Given the description of an element on the screen output the (x, y) to click on. 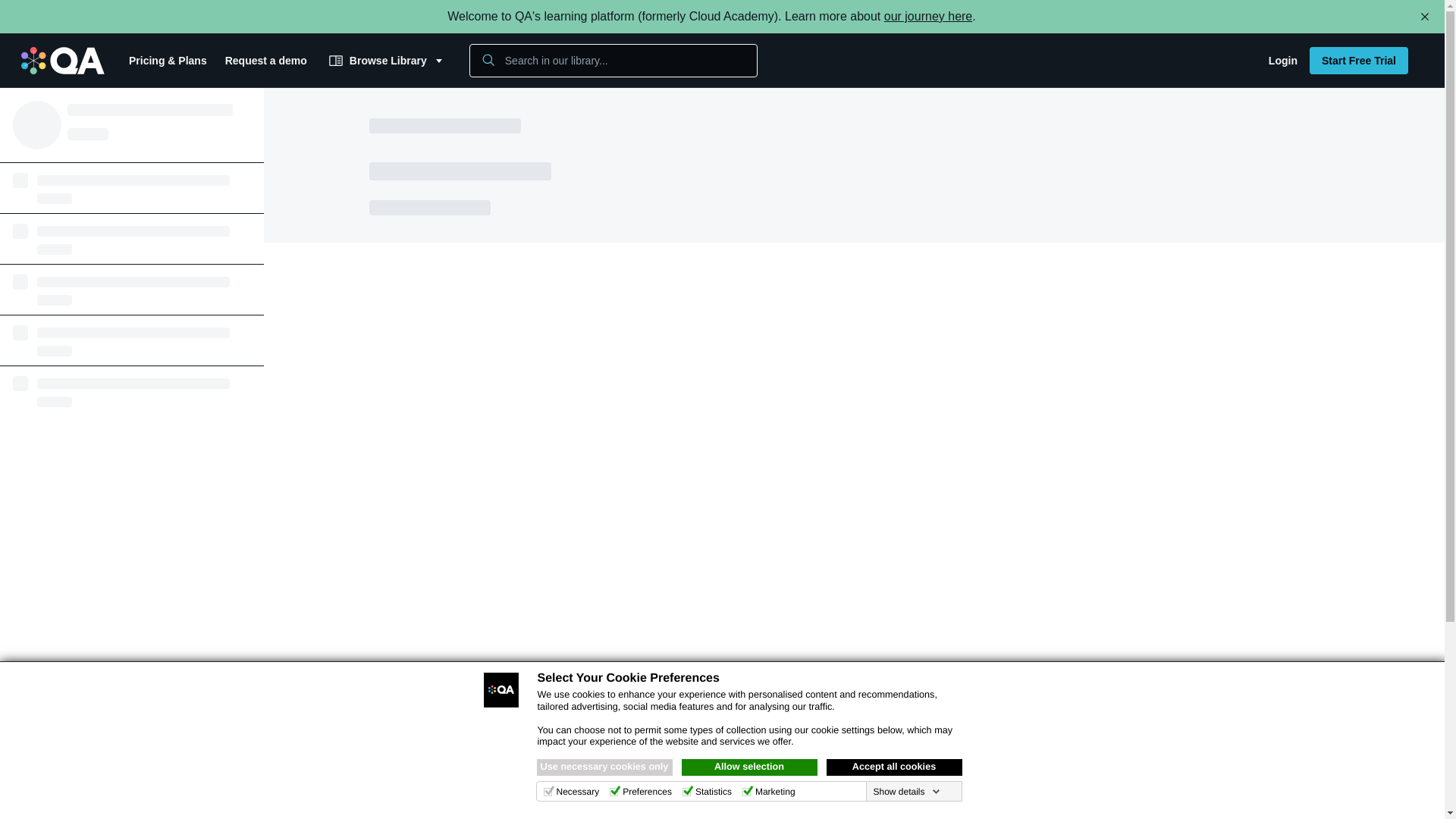
Show details (905, 791)
Allow selection (748, 767)
Use necessary cookies only (604, 767)
Accept all cookies (894, 767)
